Given the description of an element on the screen output the (x, y) to click on. 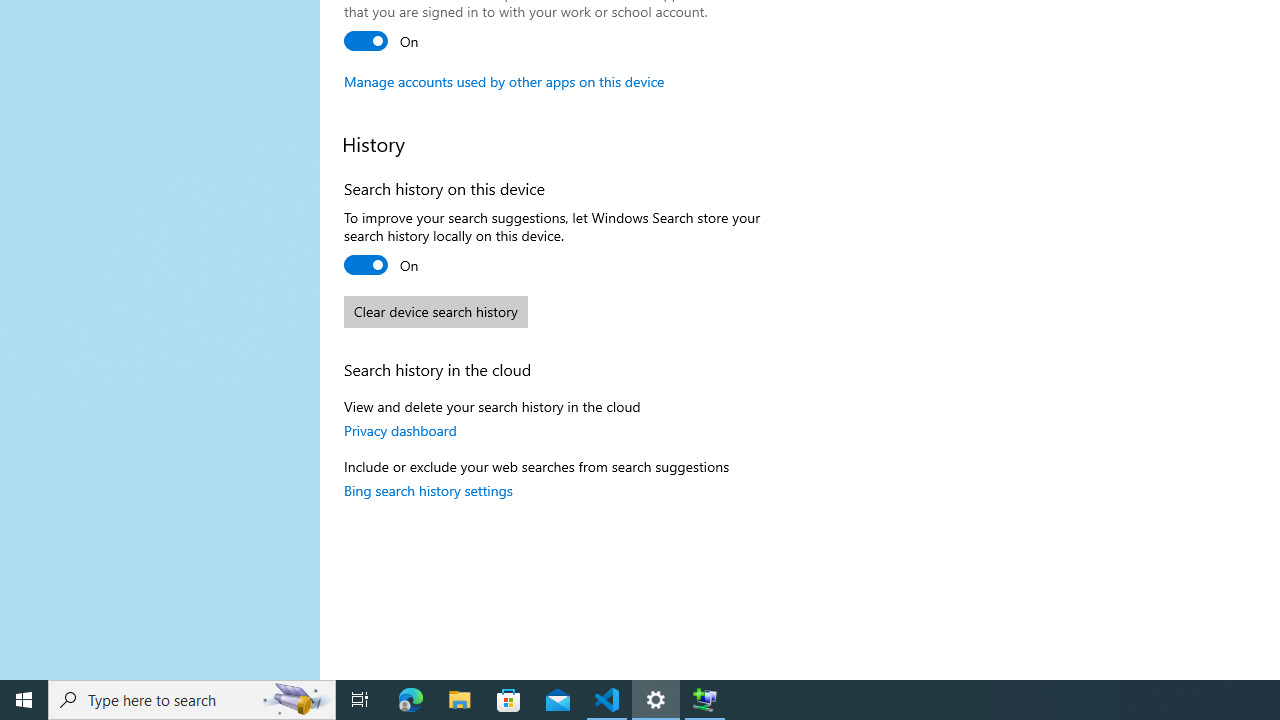
Privacy dashboard (399, 430)
